Given the description of an element on the screen output the (x, y) to click on. 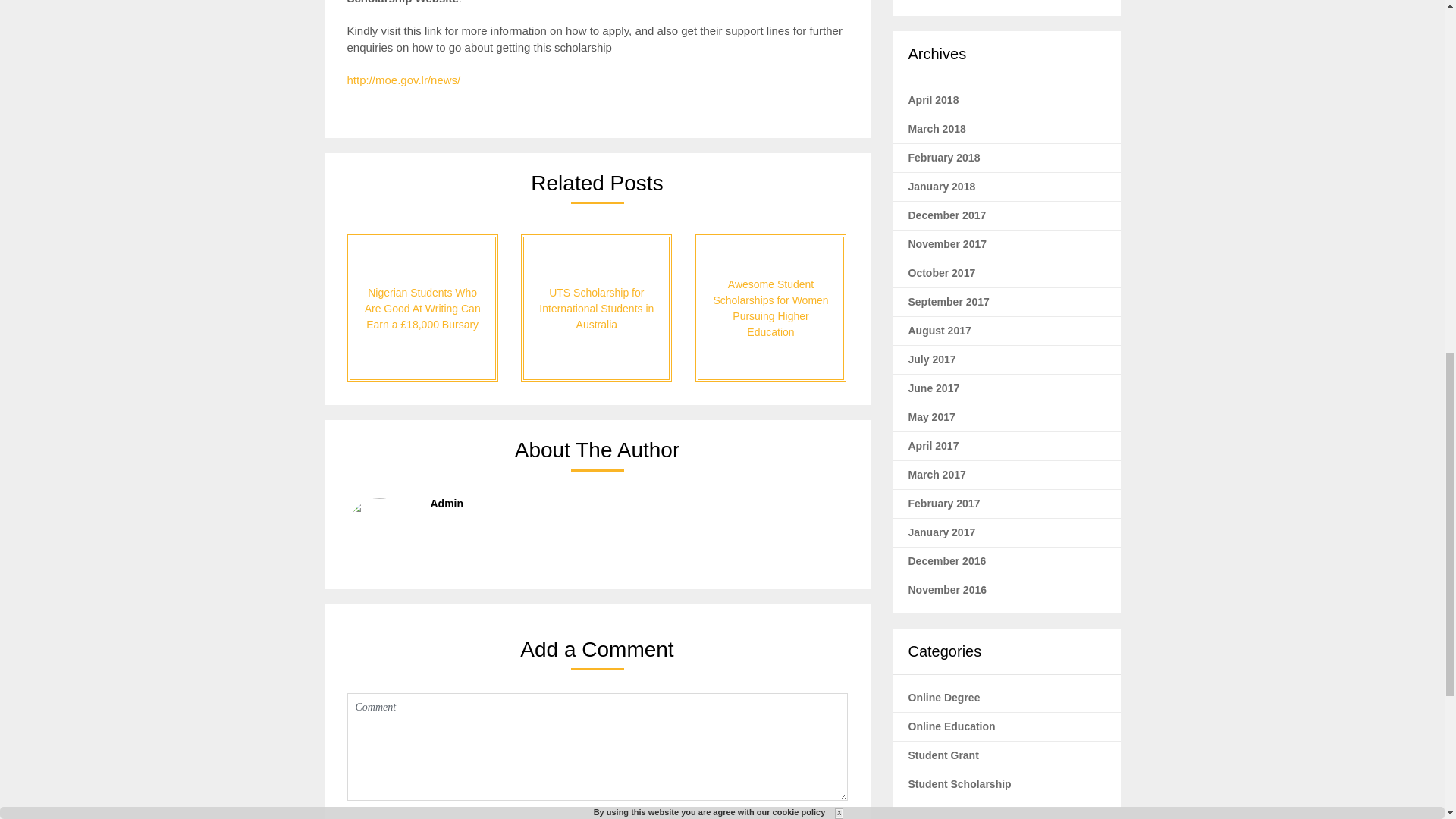
August 2017 (939, 330)
UTS Scholarship for International Students in Australia (596, 308)
January 2017 (941, 532)
March 2018 (937, 128)
March 2017 (937, 474)
April 2017 (933, 445)
May 2017 (931, 417)
December 2017 (947, 215)
September 2017 (949, 301)
April 2018 (933, 100)
October 2017 (941, 272)
November 2017 (947, 244)
UTS Scholarship for International Students in Australia (596, 308)
